Given the description of an element on the screen output the (x, y) to click on. 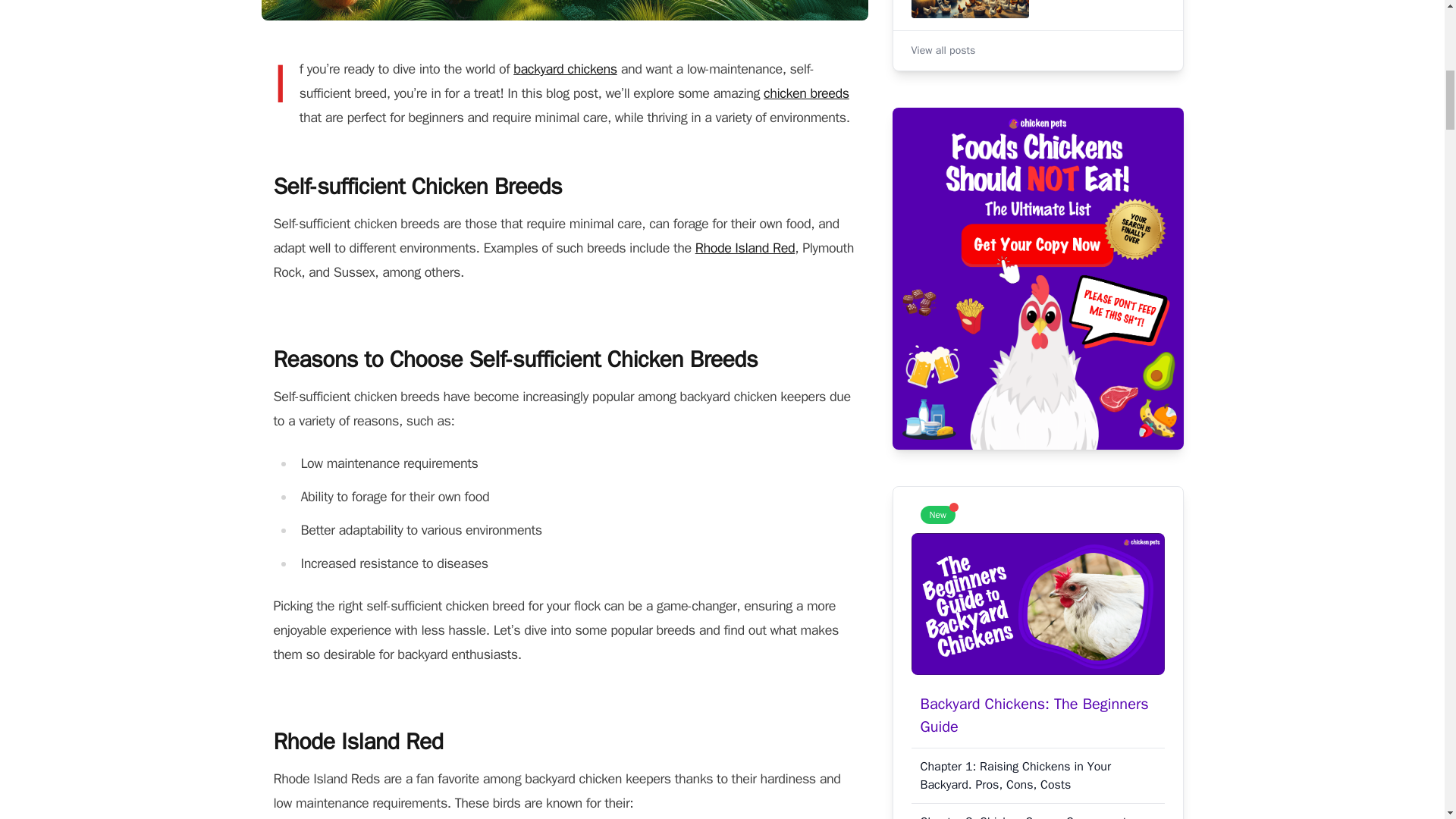
Rhode Island Red (744, 247)
Low-feed-conversion Chicken Breeds (1037, 12)
chicken breeds (805, 93)
backyard chickens (565, 68)
chicken breeds (805, 93)
Rhode Island Red (744, 247)
backyard chickens (565, 68)
